Given the description of an element on the screen output the (x, y) to click on. 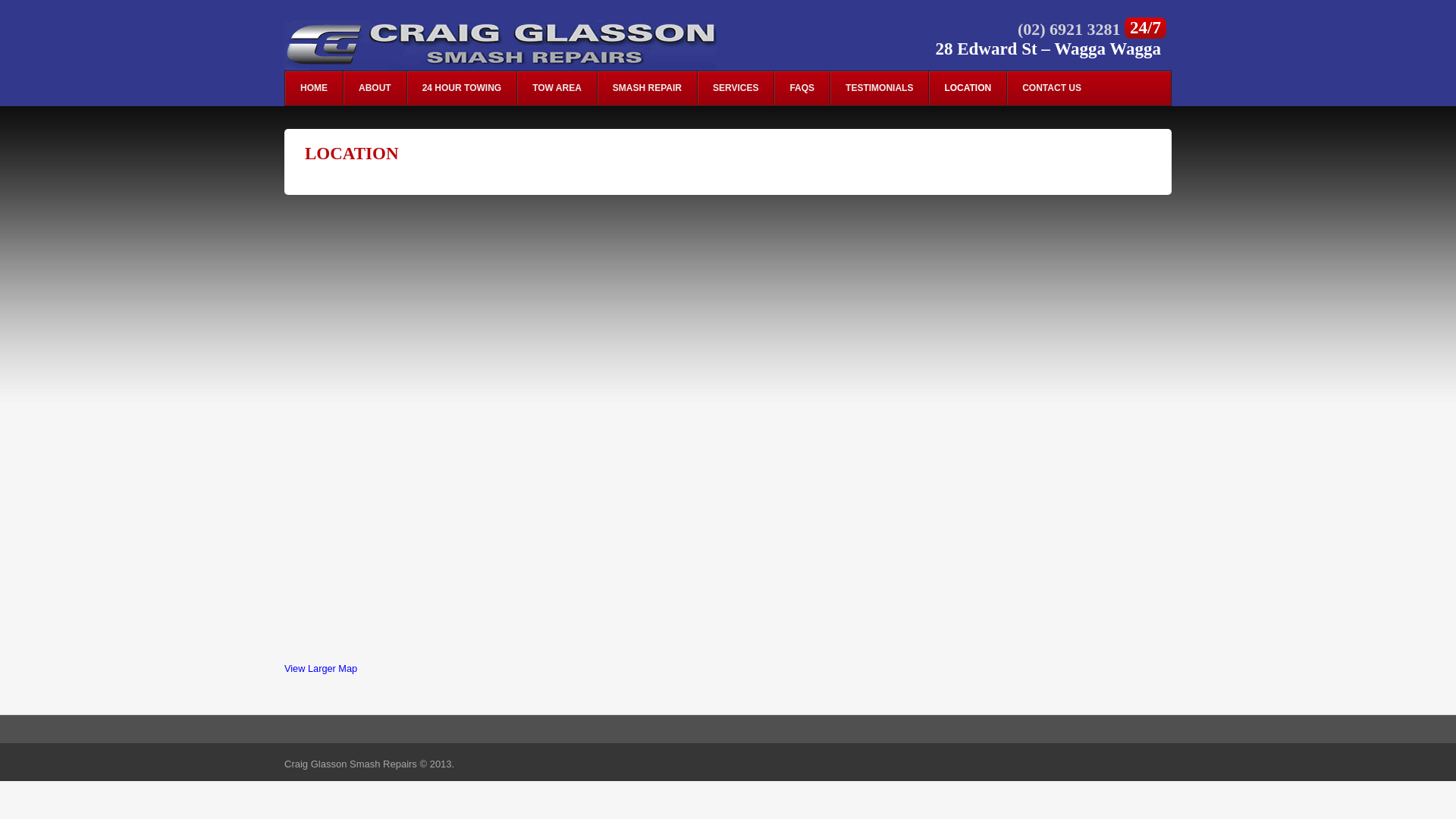
LOCATION Element type: text (967, 88)
24 HOUR TOWING Element type: text (461, 88)
ABOUT Element type: text (374, 88)
View Larger Map Element type: text (320, 668)
(02) 6921 3281 Element type: text (1070, 28)
SERVICES Element type: text (734, 88)
TOW AREA Element type: text (556, 88)
FAQS Element type: text (801, 88)
HOME Element type: text (313, 88)
CONTACT US Element type: text (1051, 88)
SMASH REPAIR Element type: text (646, 88)
TESTIMONIALS Element type: text (878, 88)
